Given the description of an element on the screen output the (x, y) to click on. 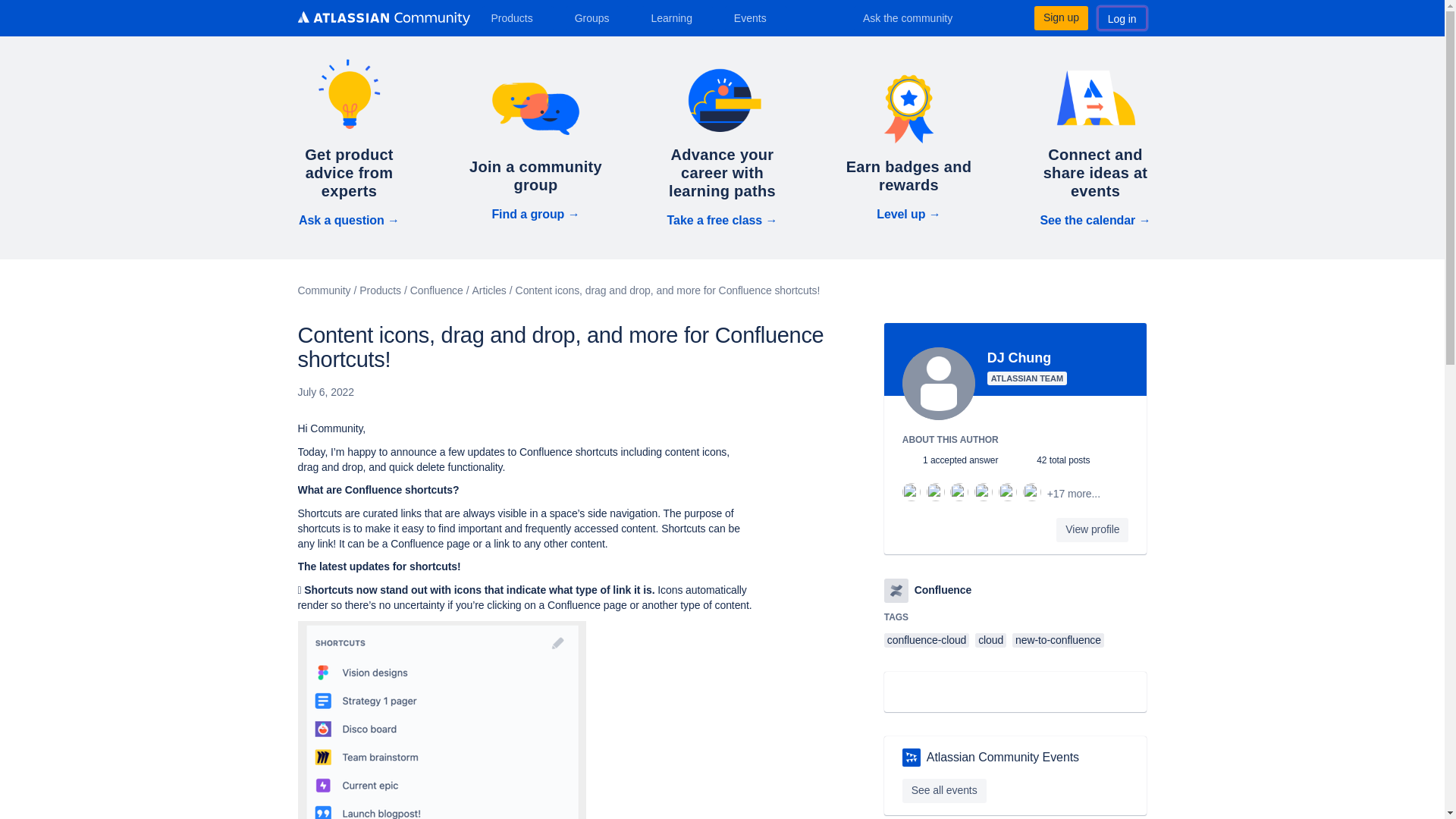
Learning (676, 17)
AUG Leaders (911, 757)
Groups (598, 17)
Atlassian Community logo (382, 18)
Screen Shot 2022-06-28 at 11.02.19 AM.png (441, 719)
Events (756, 17)
Ask the community  (917, 17)
Log in (1122, 17)
Sign up (1060, 17)
Products (517, 17)
Atlassian Community logo (382, 19)
Confluence (895, 590)
